Given the description of an element on the screen output the (x, y) to click on. 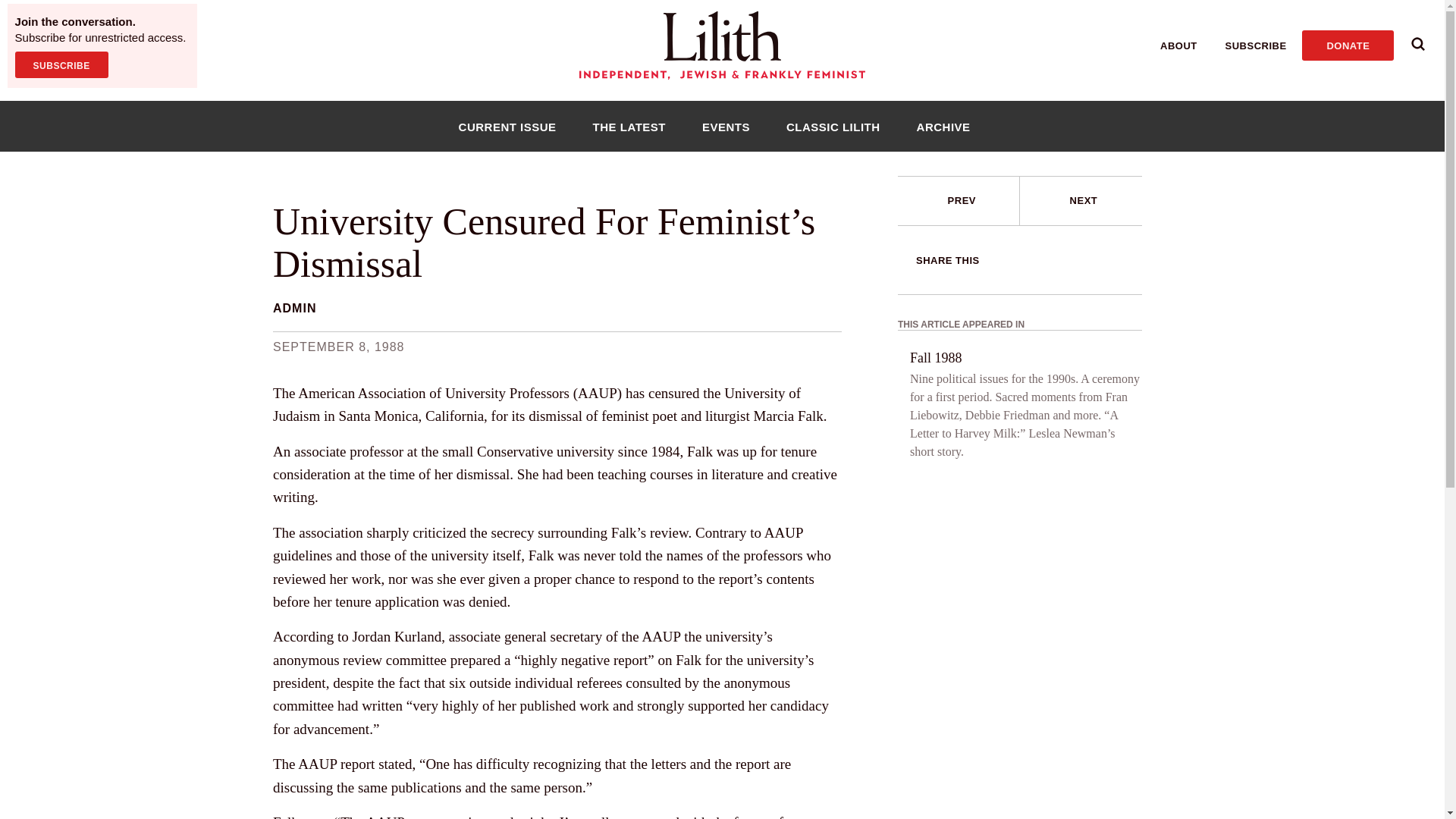
NEXT (1083, 200)
EVENTS (726, 126)
SUBSCRIBE (60, 64)
Posts by admin (294, 308)
CLASSIC LILITH (833, 126)
CURRENT ISSUE (507, 126)
Fall 1988 (936, 357)
PREV (959, 200)
NEXT (1080, 200)
ADMIN (294, 308)
